Given the description of an element on the screen output the (x, y) to click on. 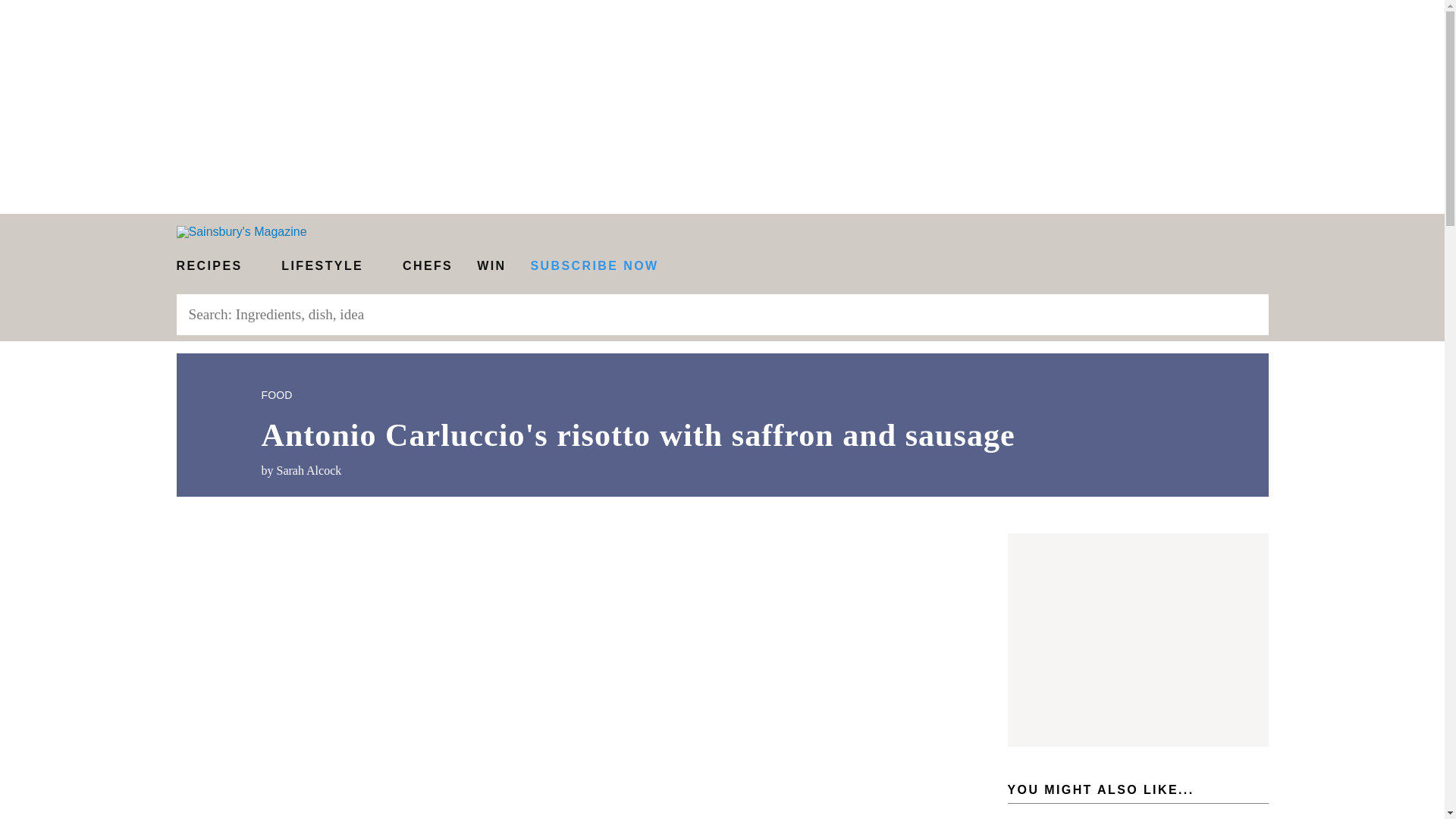
Lifestyle (329, 266)
Subscribe now (594, 266)
RECIPES (216, 266)
Chefs (427, 266)
Win (491, 266)
Recipes (216, 266)
